Given the description of an element on the screen output the (x, y) to click on. 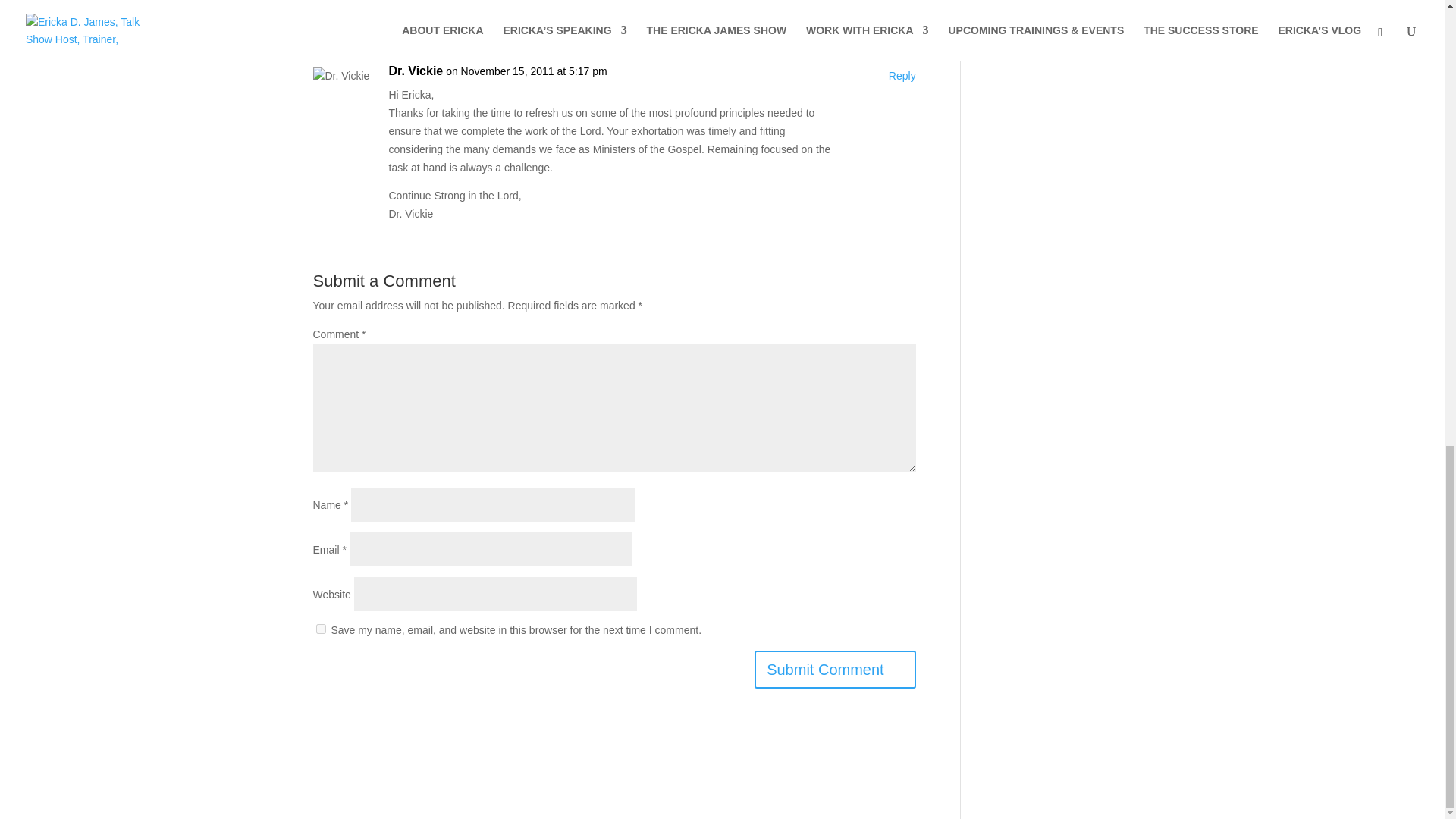
Reply (901, 76)
Submit Comment (834, 669)
Submit Comment (834, 669)
yes (319, 628)
